Given the description of an element on the screen output the (x, y) to click on. 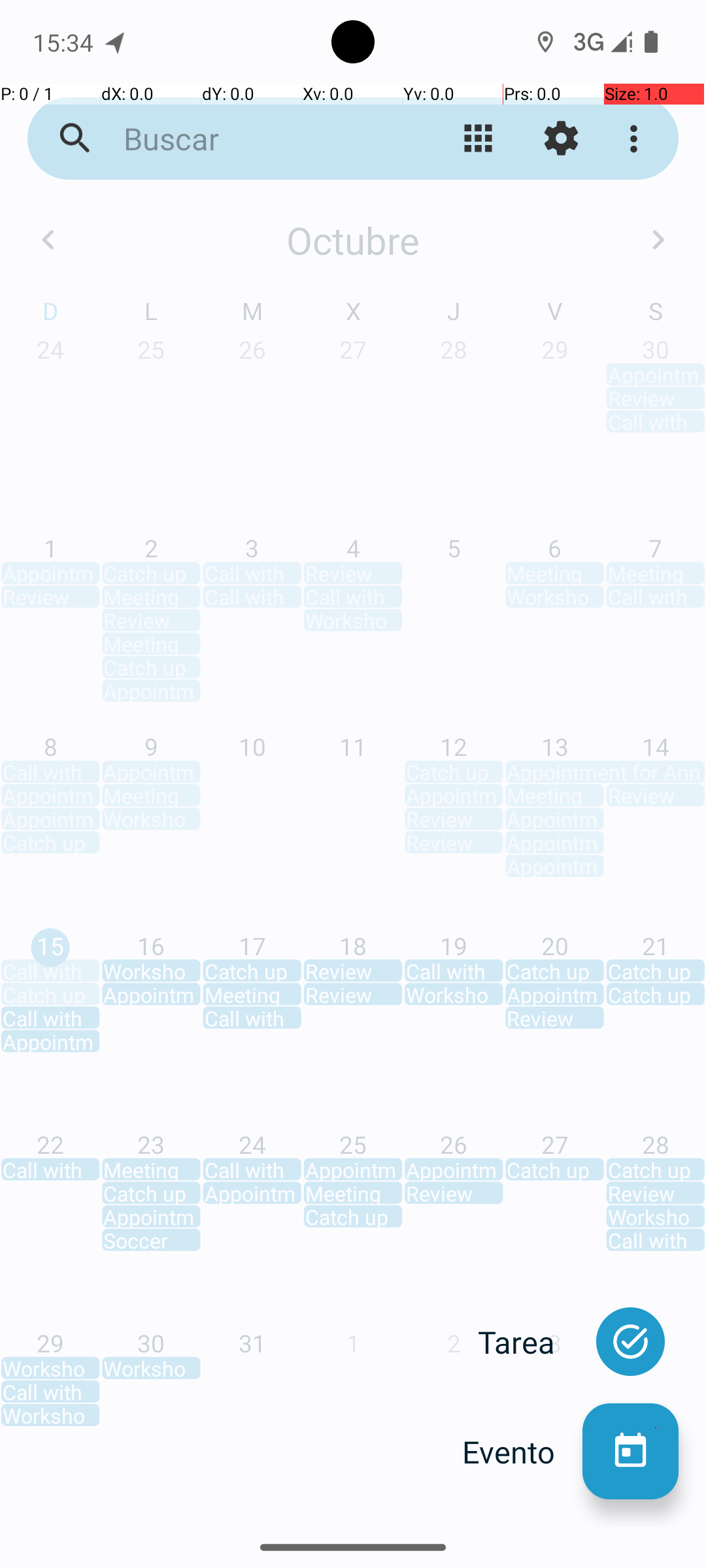
Tarea Element type: android.widget.TextView (529, 1341)
Evento Element type: android.widget.TextView (522, 1451)
